Given the description of an element on the screen output the (x, y) to click on. 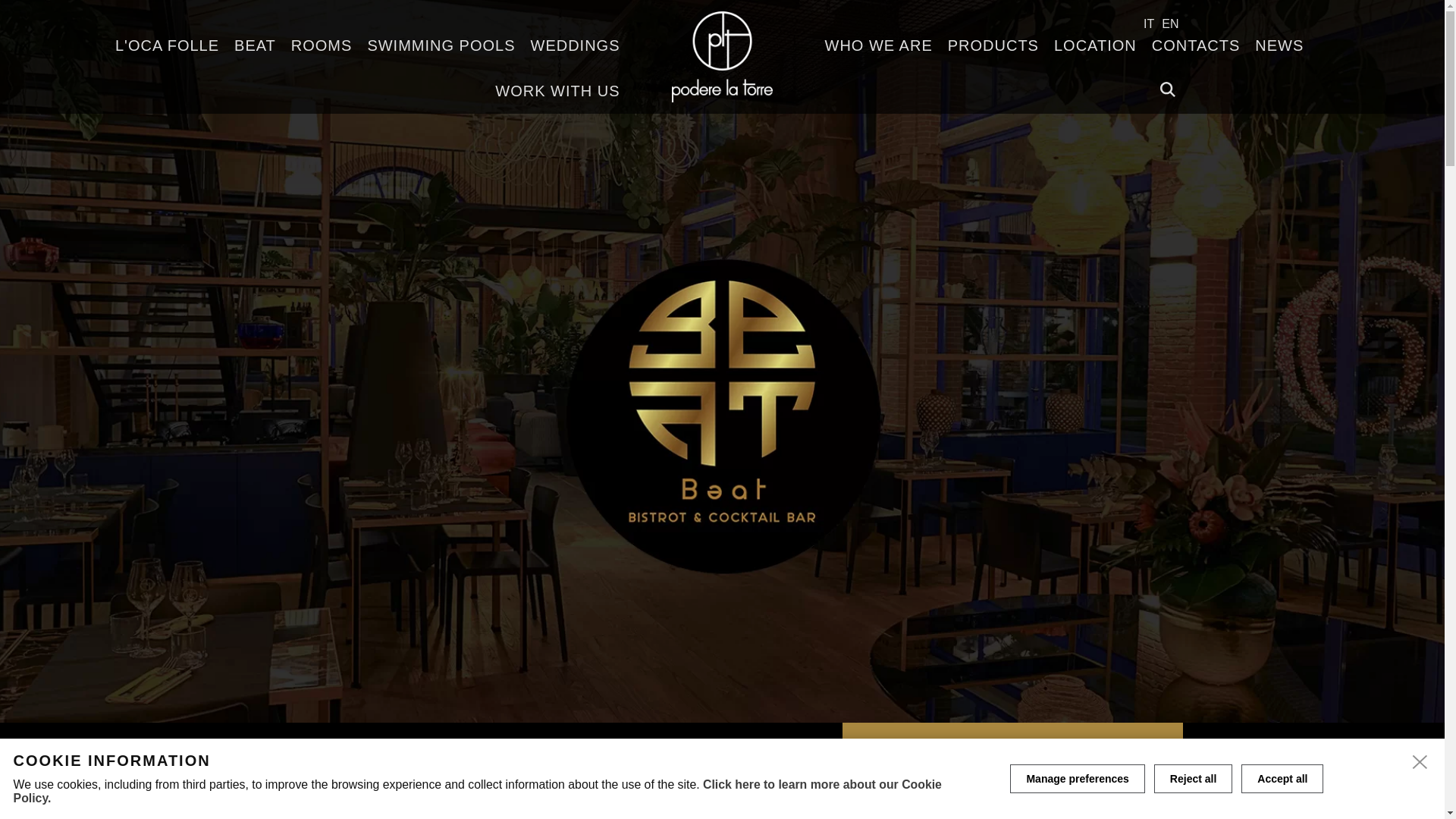
CONTACTS (1195, 44)
L'OCA FOLLE (167, 44)
WHO WE ARE (878, 44)
PRODUCTS (993, 44)
EN (1169, 23)
WORK WITH US (557, 90)
SWIMMING POOLS (440, 44)
Search (1167, 89)
LOCATION (1095, 44)
WEDDINGS (574, 44)
Search (1167, 89)
ROOMS (321, 44)
EN (1169, 23)
NEWS (1279, 44)
BEAT (255, 44)
